Given the description of an element on the screen output the (x, y) to click on. 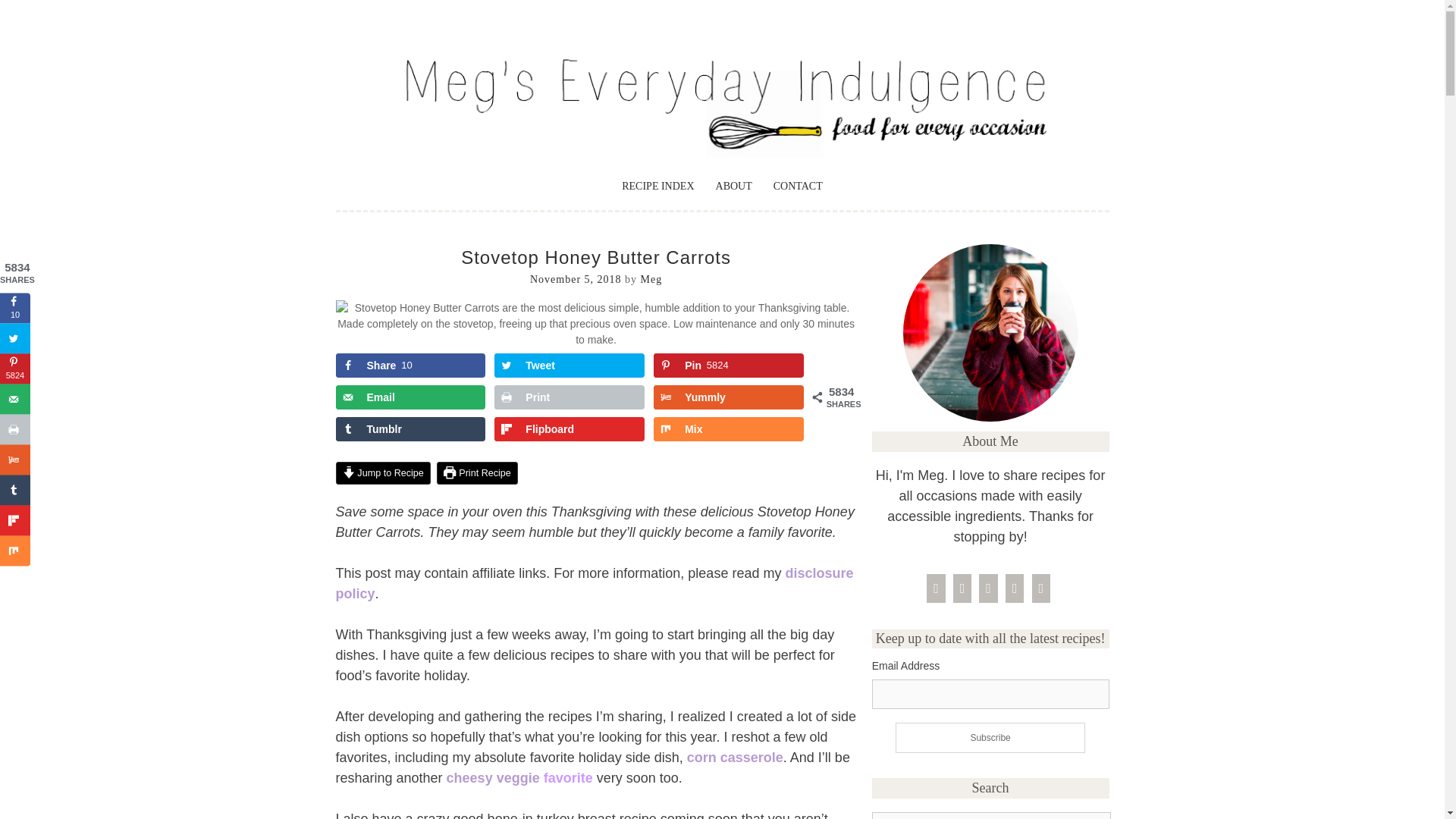
Share on Flipboard (570, 428)
Subscribe (989, 737)
Share on Tumblr (409, 428)
Send over email (409, 396)
Share on Mix (728, 428)
Share on Yummly (728, 396)
Save to Pinterest (728, 364)
Stovetop Honey Butter Carrots (595, 339)
MEG'S EVERYDAY INDULGENCE (625, 88)
Share on Facebook (409, 364)
RECIPE INDEX (657, 186)
Share on Twitter (570, 364)
Print this webpage (570, 396)
